Given the description of an element on the screen output the (x, y) to click on. 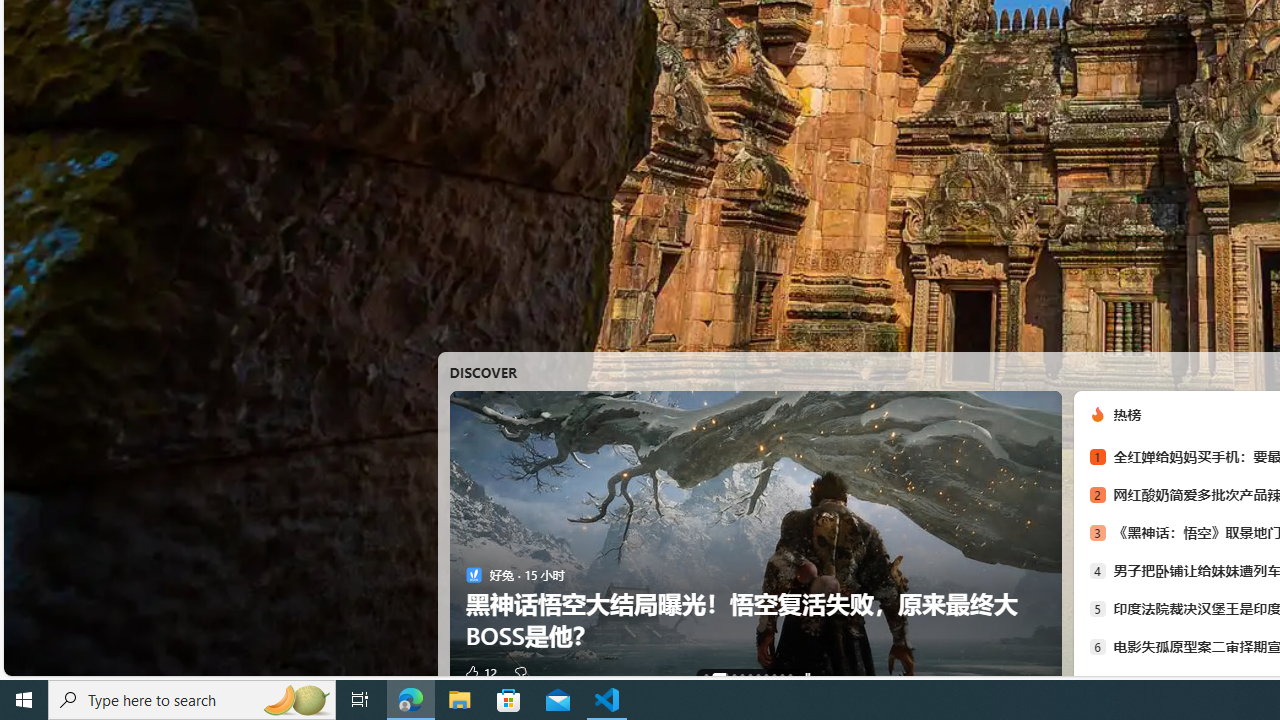
AutomationID: tab-8 (781, 675)
